Given the description of an element on the screen output the (x, y) to click on. 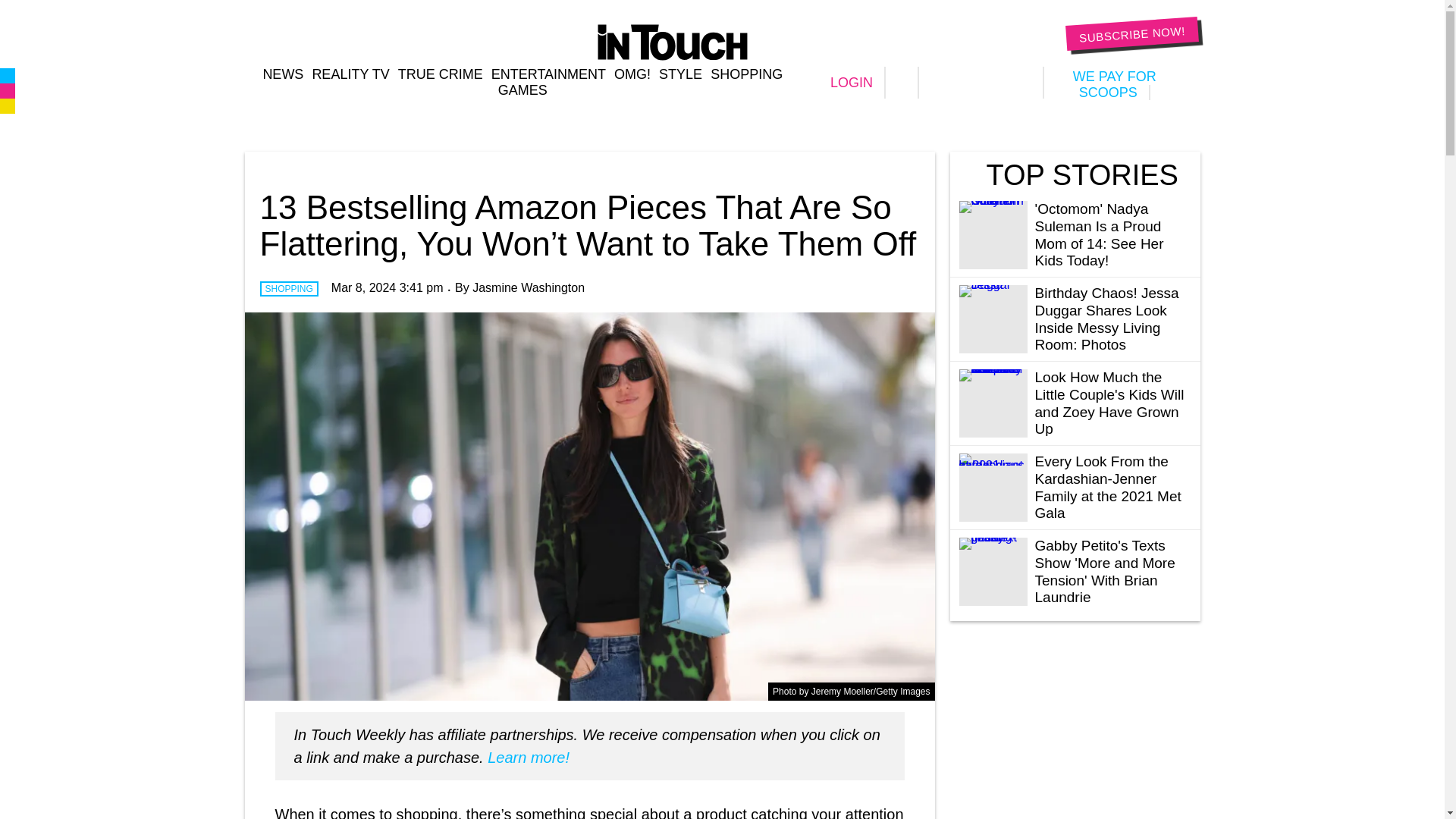
Posts by Jasmine Washington (528, 287)
REALITY TV (349, 73)
NEWS (282, 73)
TRUE CRIME (440, 73)
